Given the description of an element on the screen output the (x, y) to click on. 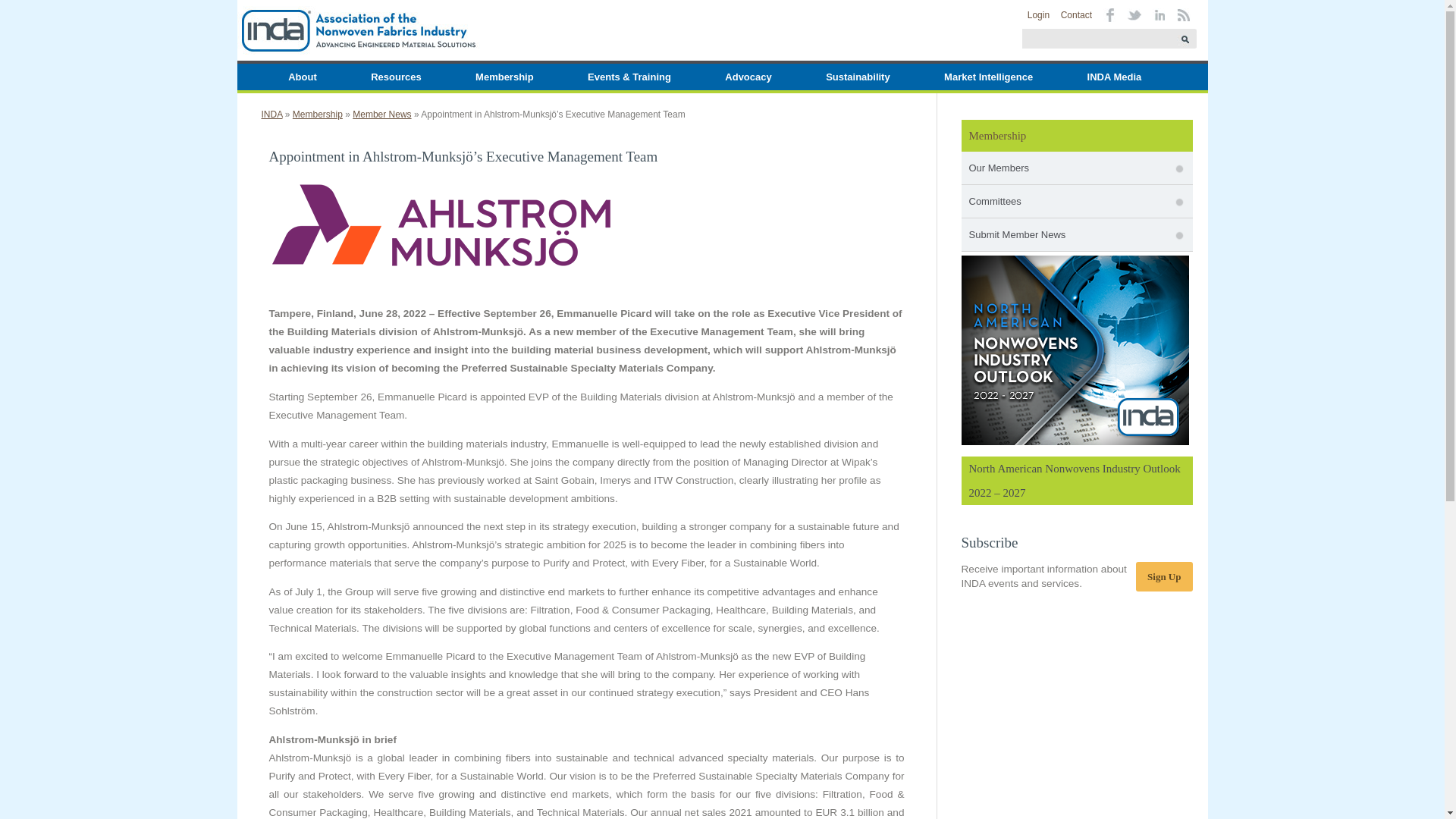
Go to Member News. (381, 113)
Go to INDA. (271, 113)
INDA LOGO (357, 30)
Resources (395, 76)
Contact (1076, 14)
Go to Membership. (317, 113)
About (302, 76)
Login (1038, 14)
